Given the description of an element on the screen output the (x, y) to click on. 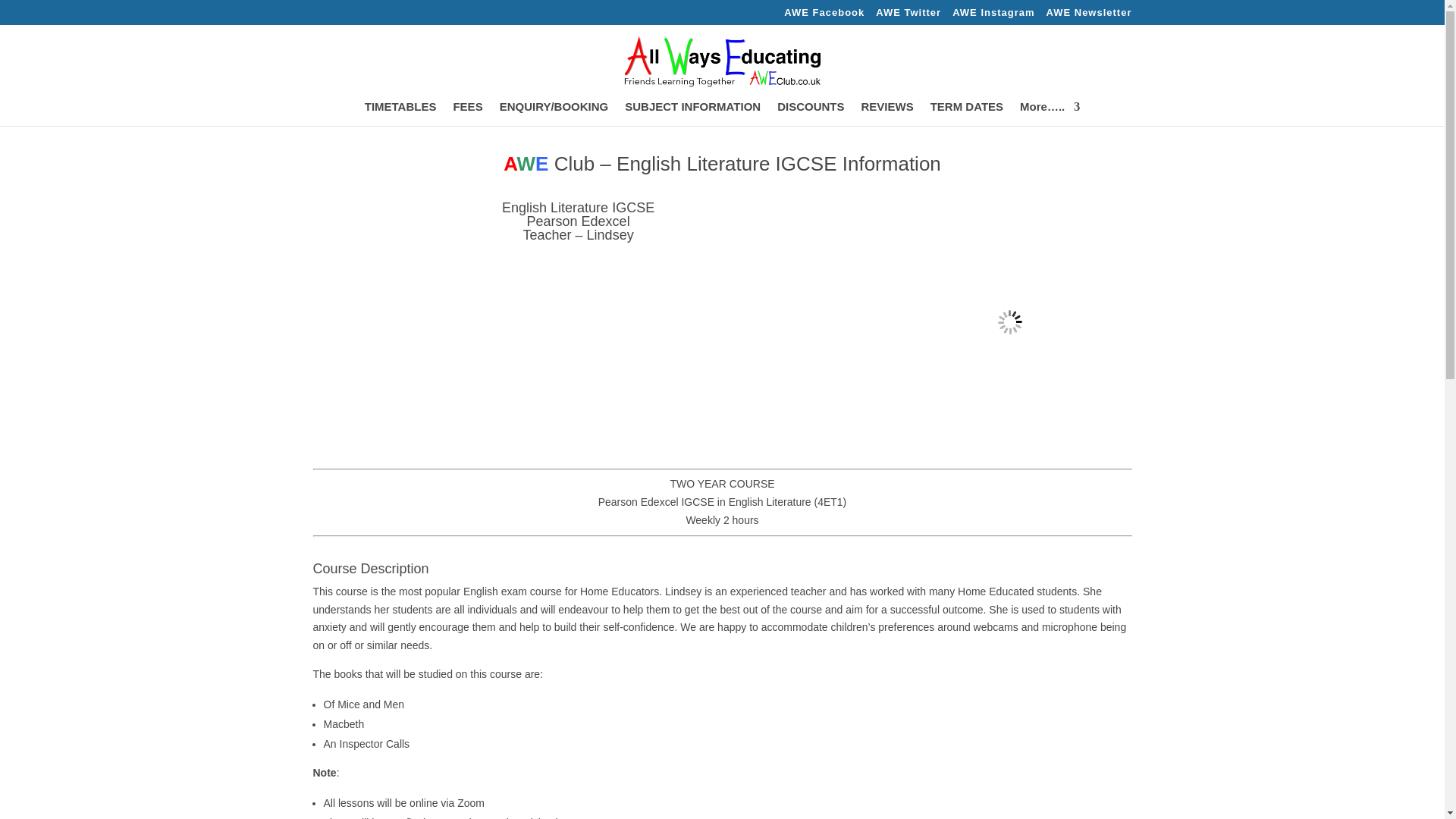
TIMETABLES (400, 113)
AWE Club - Online English Literature IGCSE (1009, 321)
SUBJECT INFORMATION (692, 113)
AWE Newsletter (1089, 16)
DISCOUNTS (810, 113)
AWE Twitter (908, 16)
TERM DATES (966, 113)
AWE Instagram (992, 16)
AWE Facebook (824, 16)
FEES (466, 113)
